Given the description of an element on the screen output the (x, y) to click on. 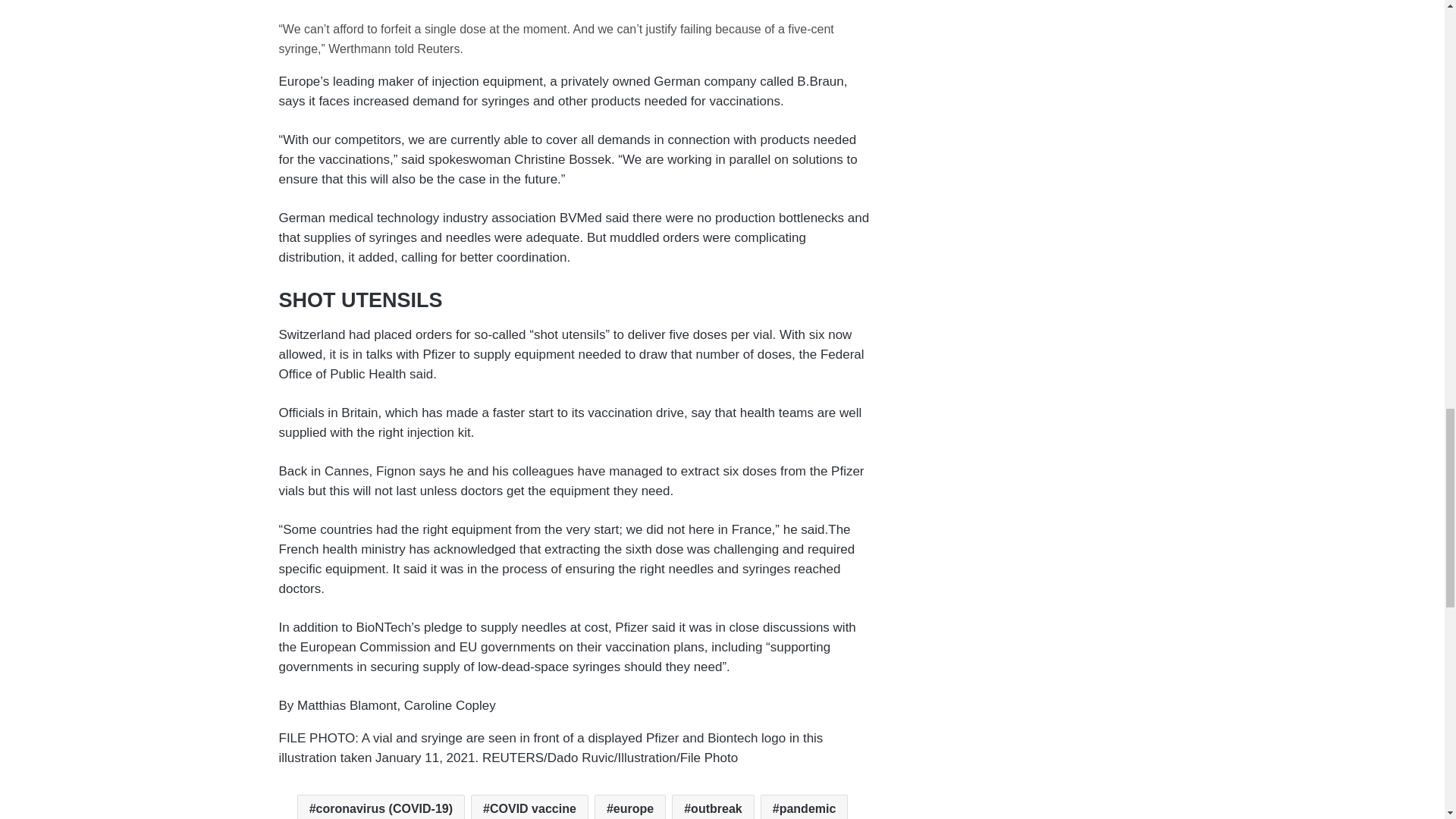
COVID vaccine (529, 806)
outbreak (712, 806)
europe (629, 806)
pandemic (804, 806)
